Given the description of an element on the screen output the (x, y) to click on. 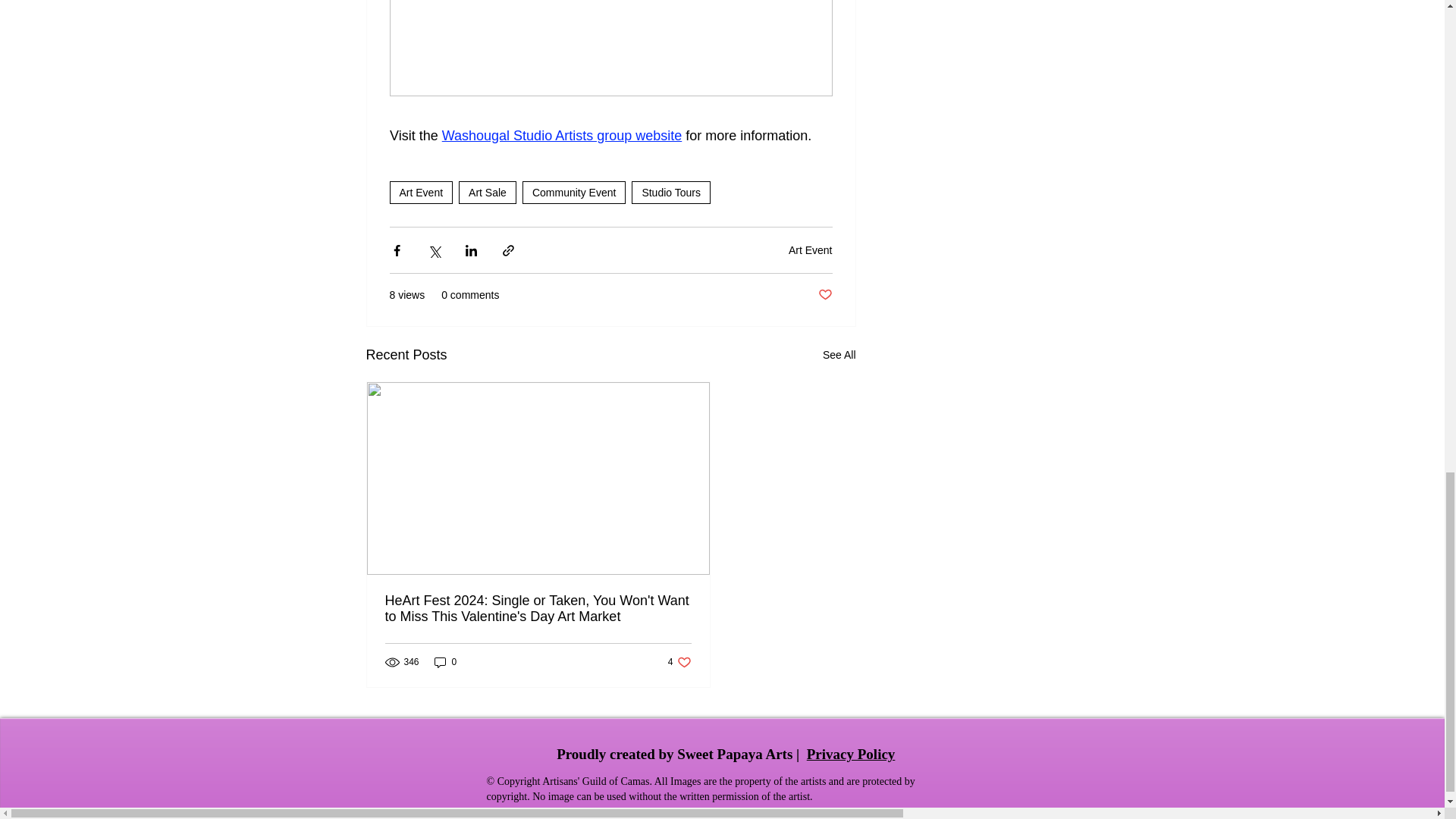
Studio Tours (670, 191)
See All (839, 354)
0 (445, 662)
Art Sale (487, 191)
Community Event (574, 191)
Art Event (679, 662)
Post not marked as liked (810, 250)
Privacy Policy (823, 295)
